Given the description of an element on the screen output the (x, y) to click on. 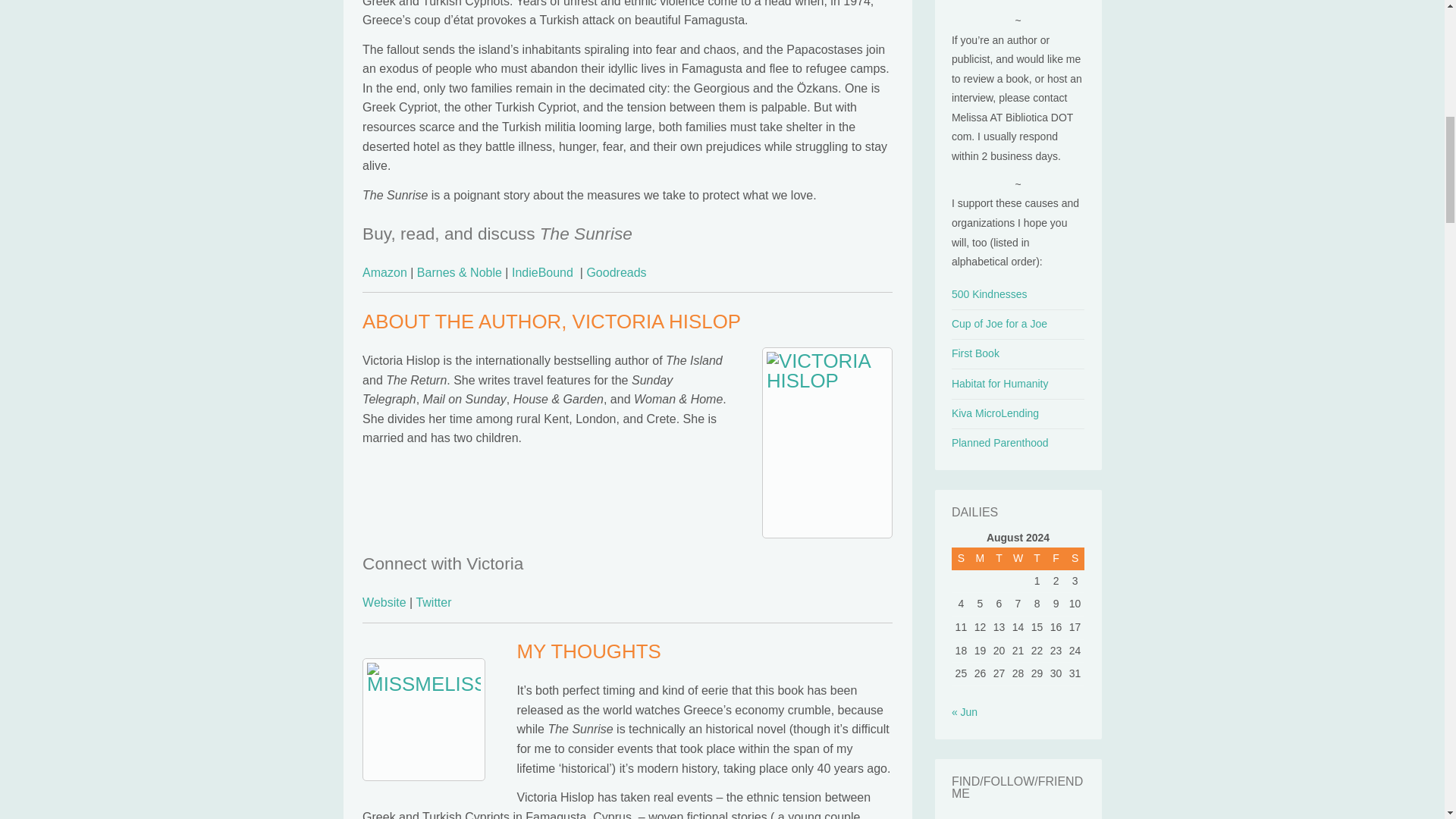
Goodreads (616, 272)
Website (384, 602)
IndieBound (542, 272)
Twitter (432, 602)
Amazon (384, 272)
